Given the description of an element on the screen output the (x, y) to click on. 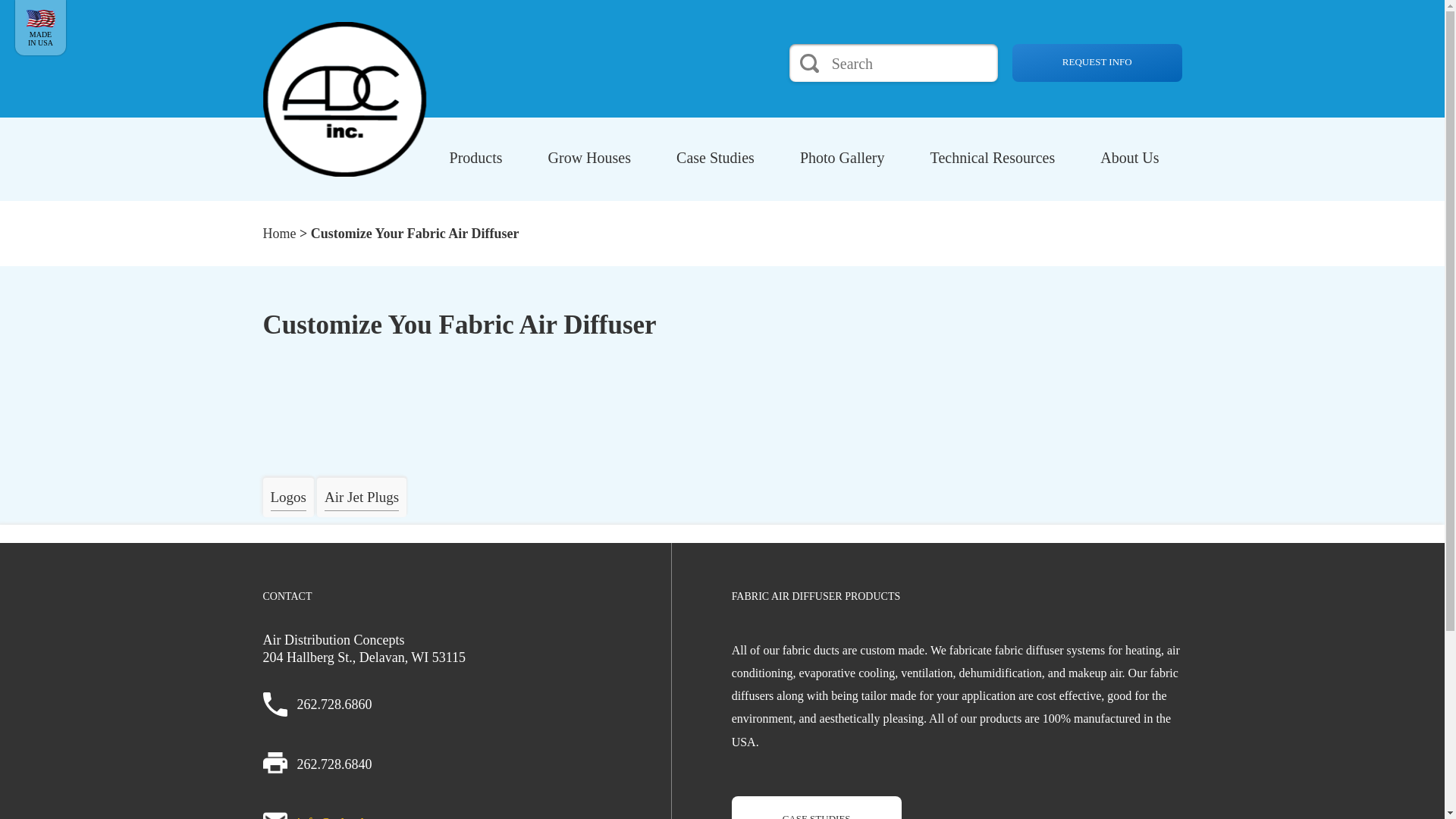
Products (475, 164)
Photo Gallery (842, 165)
Logos (288, 496)
About Us (1128, 165)
Search Our Site (909, 63)
Case Studies (715, 164)
Air Distribution Concepts Inc. (344, 99)
Products (475, 164)
Made in USA (40, 18)
Search (809, 62)
